Given the description of an element on the screen output the (x, y) to click on. 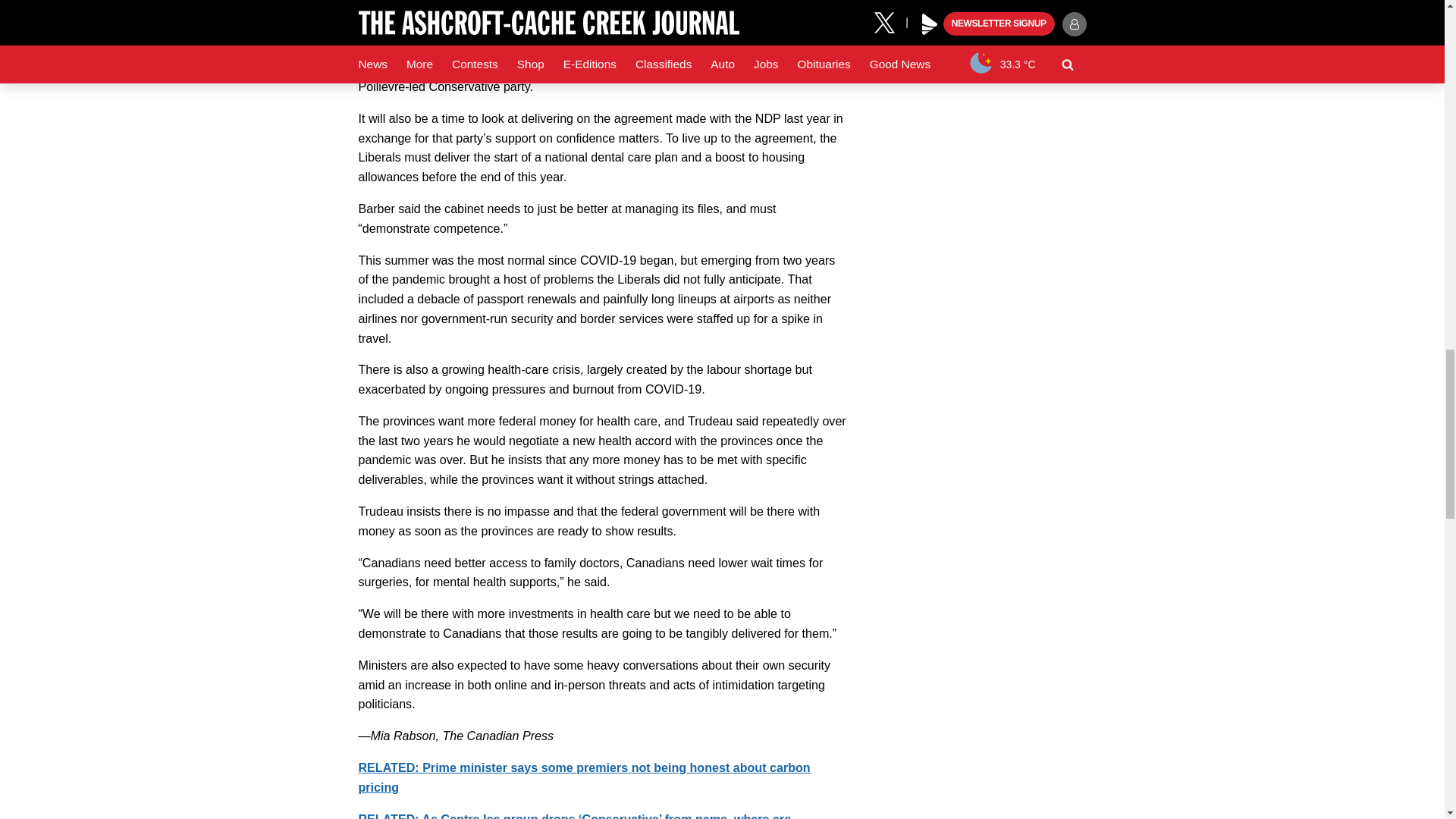
related story (574, 815)
related story (583, 776)
